Given the description of an element on the screen output the (x, y) to click on. 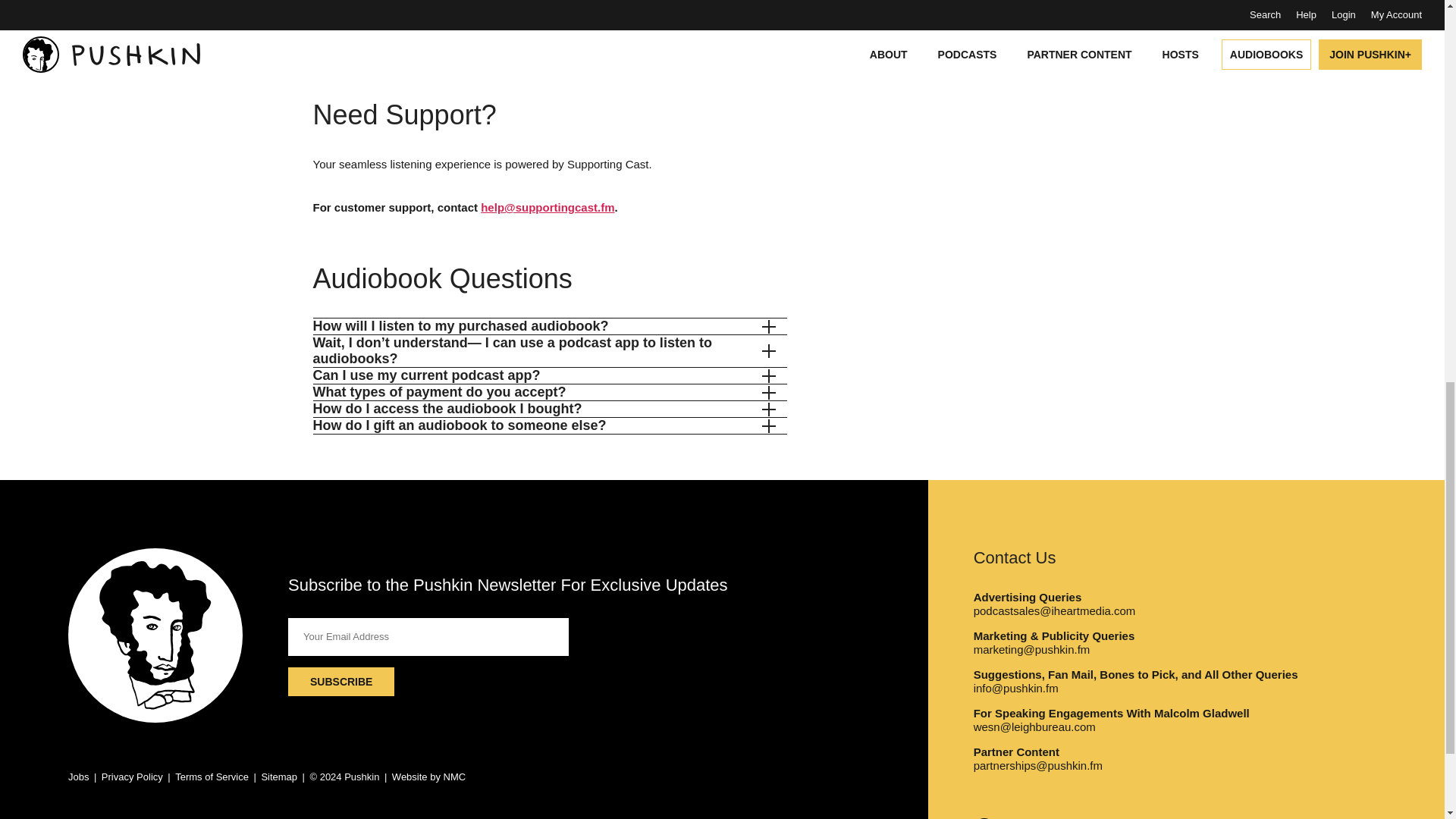
Can I use my current podcast app? (543, 375)
Jobs (78, 776)
Terms of Service (211, 776)
How do I gift an audiobook to someone else? (543, 425)
Sitemap (278, 776)
How do I access the audiobook I bought? (543, 408)
How will I listen to my purchased audiobook? (543, 326)
SUBSCRIBE (341, 681)
What types of payment do you accept? (543, 392)
Privacy Policy (132, 776)
